Given the description of an element on the screen output the (x, y) to click on. 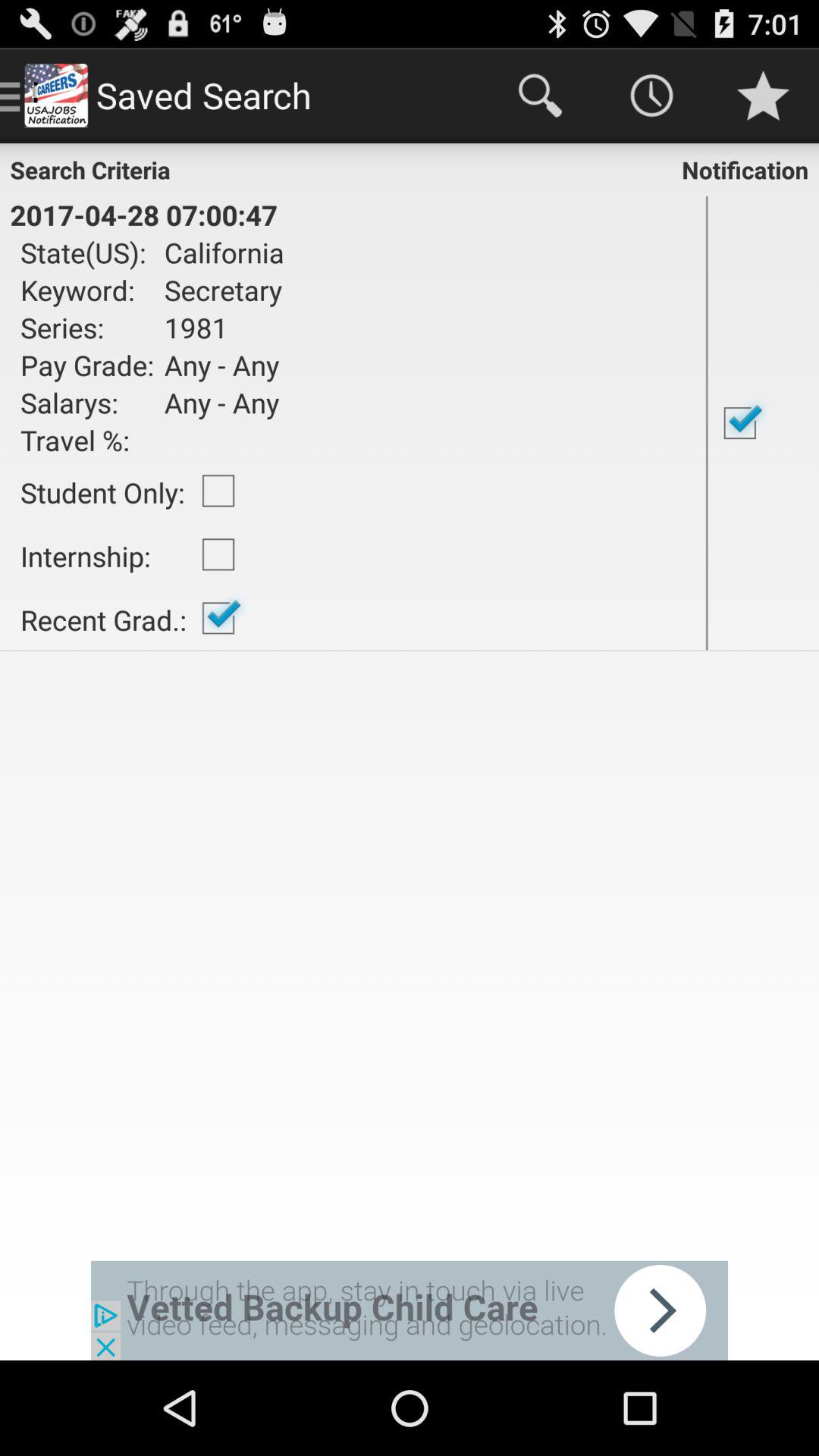
choose the app above series: icon (219, 289)
